Given the description of an element on the screen output the (x, y) to click on. 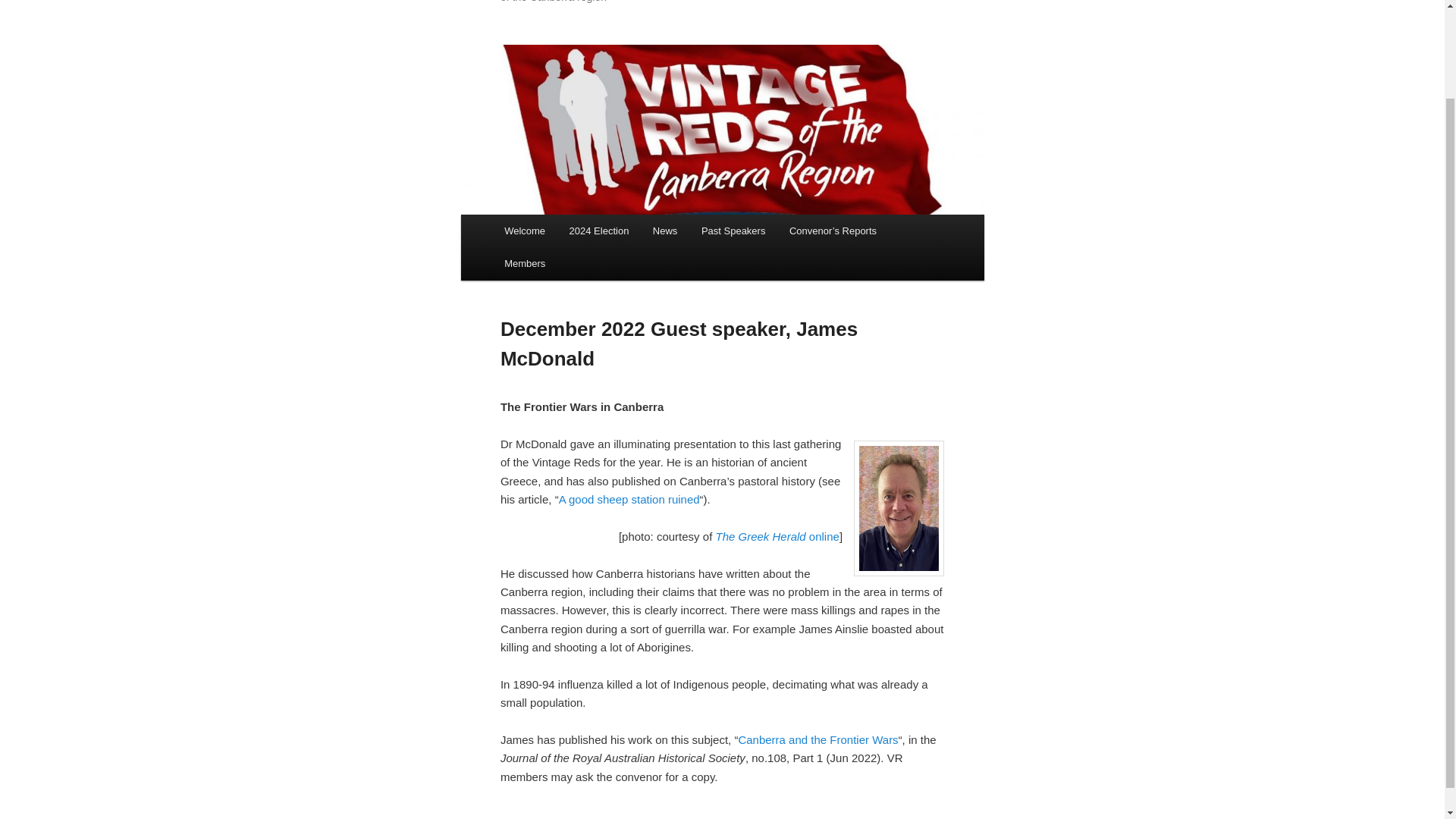
Members (524, 263)
The Greek Herald online (776, 535)
December 2022 Guest speaker, James McDonald (678, 343)
A good sheep station ruined (629, 499)
2024 Election (598, 230)
Canberra and the Frontier Wars (818, 739)
News (664, 230)
Past Speakers (732, 230)
Welcome (524, 230)
